Given the description of an element on the screen output the (x, y) to click on. 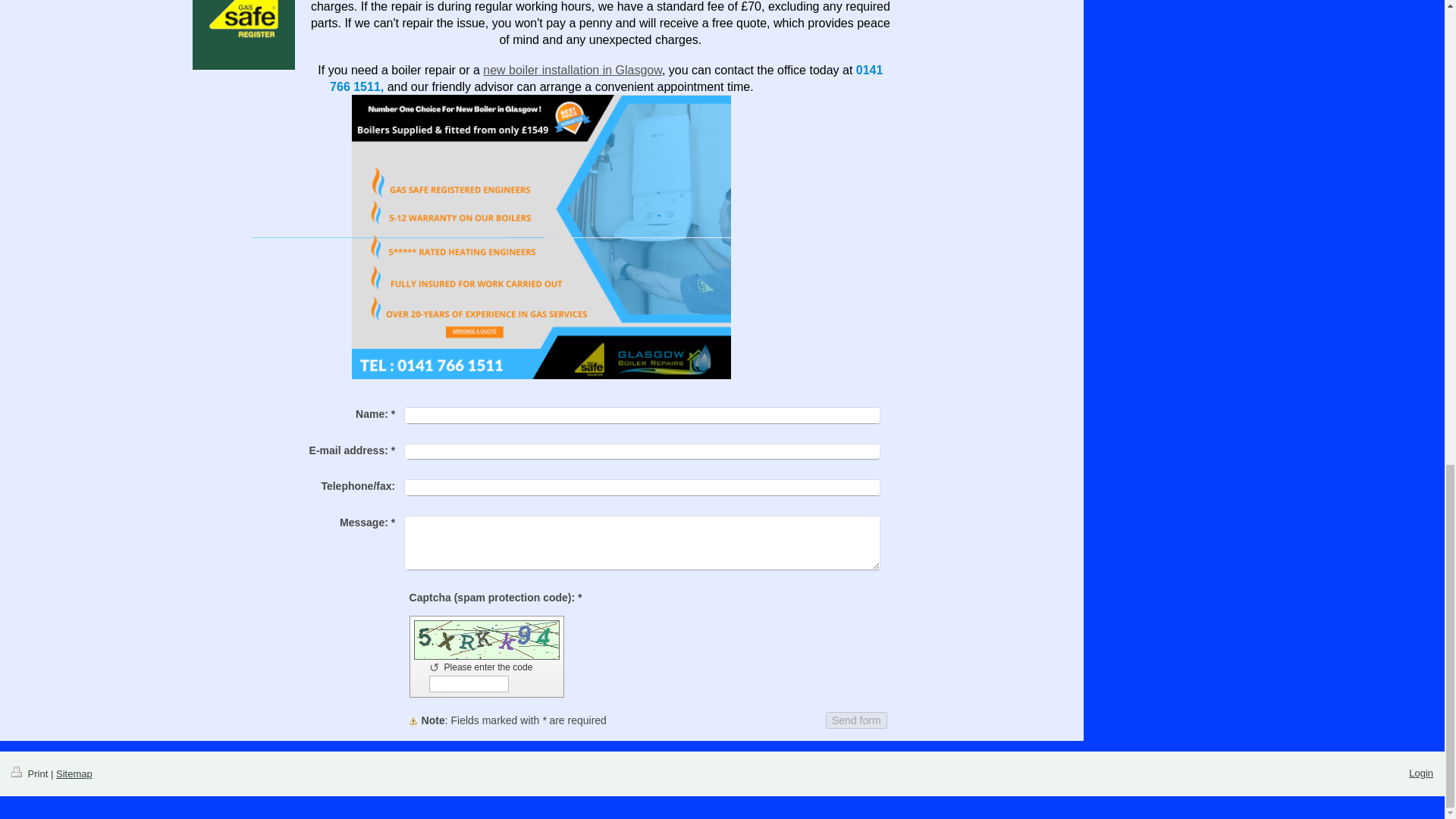
new boiler installation in Glasgow (572, 69)
Generate new code (436, 667)
Send form (855, 719)
